Given the description of an element on the screen output the (x, y) to click on. 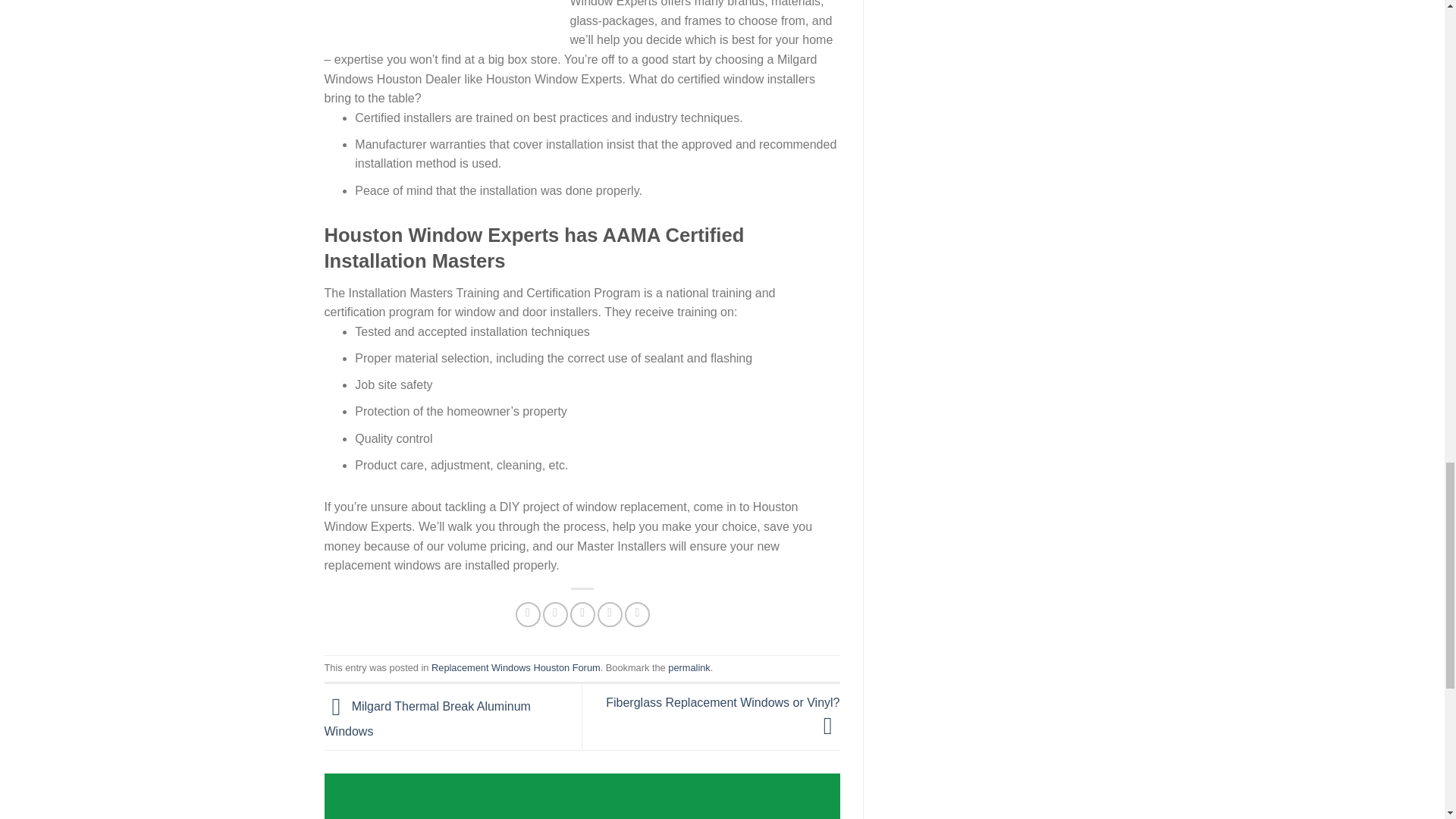
Pin on Pinterest (609, 614)
Share on Facebook (527, 614)
Email to a Friend (582, 614)
Share on Twitter (555, 614)
